Given the description of an element on the screen output the (x, y) to click on. 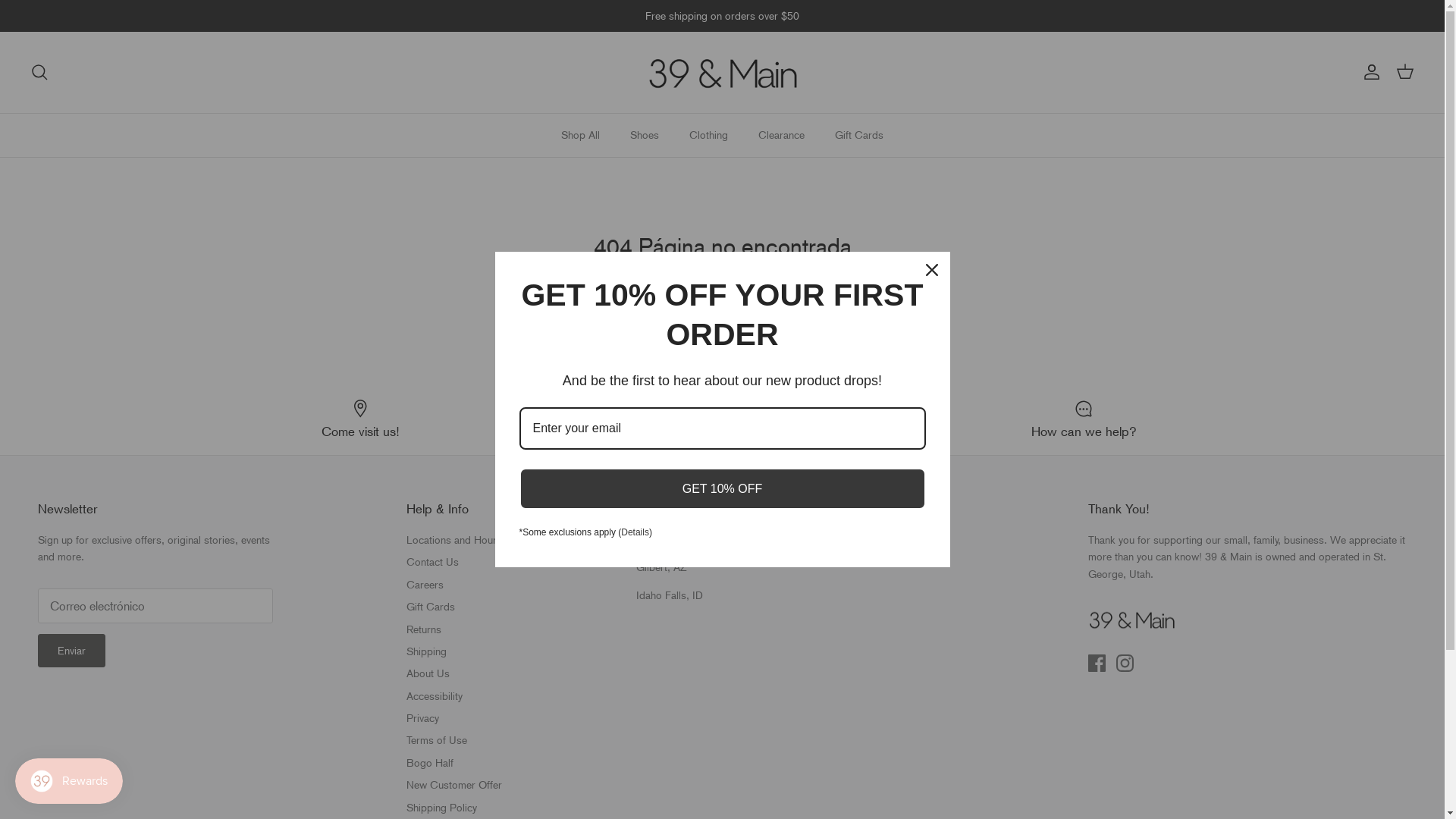
Gift Cards Element type: text (859, 134)
Privacy Element type: text (422, 718)
Shoes Element type: text (644, 134)
Terms of Use Element type: text (436, 740)
Smile.io Rewards Program Launcher Element type: hover (68, 780)
Enviar Element type: text (71, 650)
Shipping Element type: text (426, 651)
Locations and Hours Element type: text (454, 539)
Bogo Half Element type: text (429, 762)
Come visit us! Element type: text (360, 418)
About Us Element type: text (427, 673)
Carrito Element type: text (1405, 71)
New Customer Offer Element type: text (454, 784)
Cuenta Element type: text (1368, 71)
Contact Us Element type: text (432, 561)
Shipping Policy Element type: text (441, 807)
GET 10% OFF Element type: text (721, 487)
How can we help? Element type: text (1083, 418)
Buscar Element type: text (39, 71)
Shop All Element type: text (580, 134)
Facebook Element type: text (1096, 662)
Details Element type: text (635, 532)
39 & Main Element type: hover (721, 72)
Returns Element type: text (423, 629)
Accessibility Element type: text (434, 696)
Clothing Element type: text (708, 134)
Instagram Element type: text (1124, 662)
Clearance Element type: text (781, 134)
Earn rewards | Club 39 Element type: text (721, 418)
Careers Element type: text (424, 584)
Gift Cards Element type: text (430, 606)
